Given the description of an element on the screen output the (x, y) to click on. 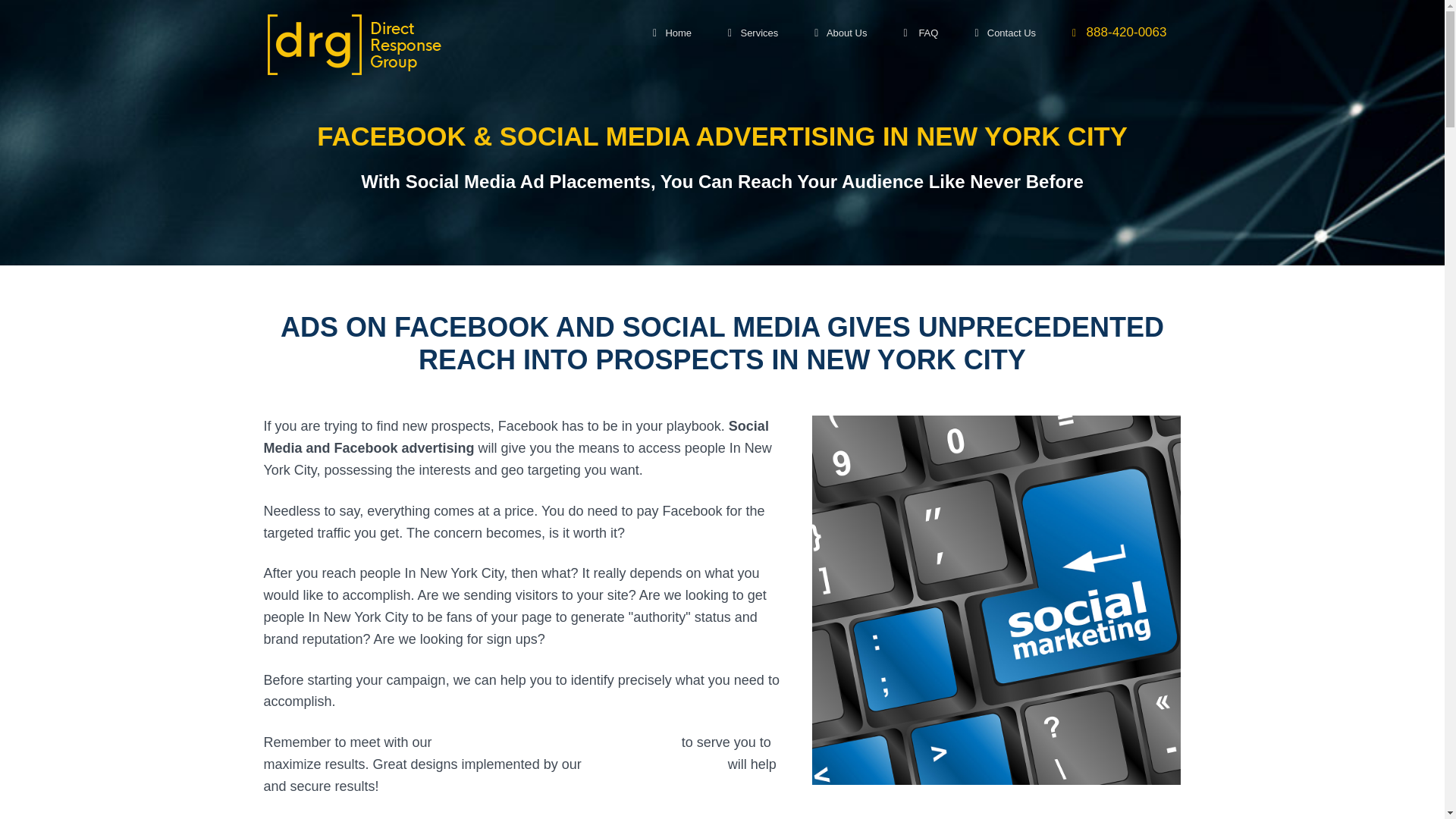
website design experts (654, 764)
  Contact Us (1004, 33)
Direct Response Group Logo (353, 43)
  888-420-0063 (1118, 32)
  Services (753, 33)
website design agency In New York City (556, 742)
  Home (671, 33)
  About Us (840, 33)
   FAQ (920, 33)
